Given the description of an element on the screen output the (x, y) to click on. 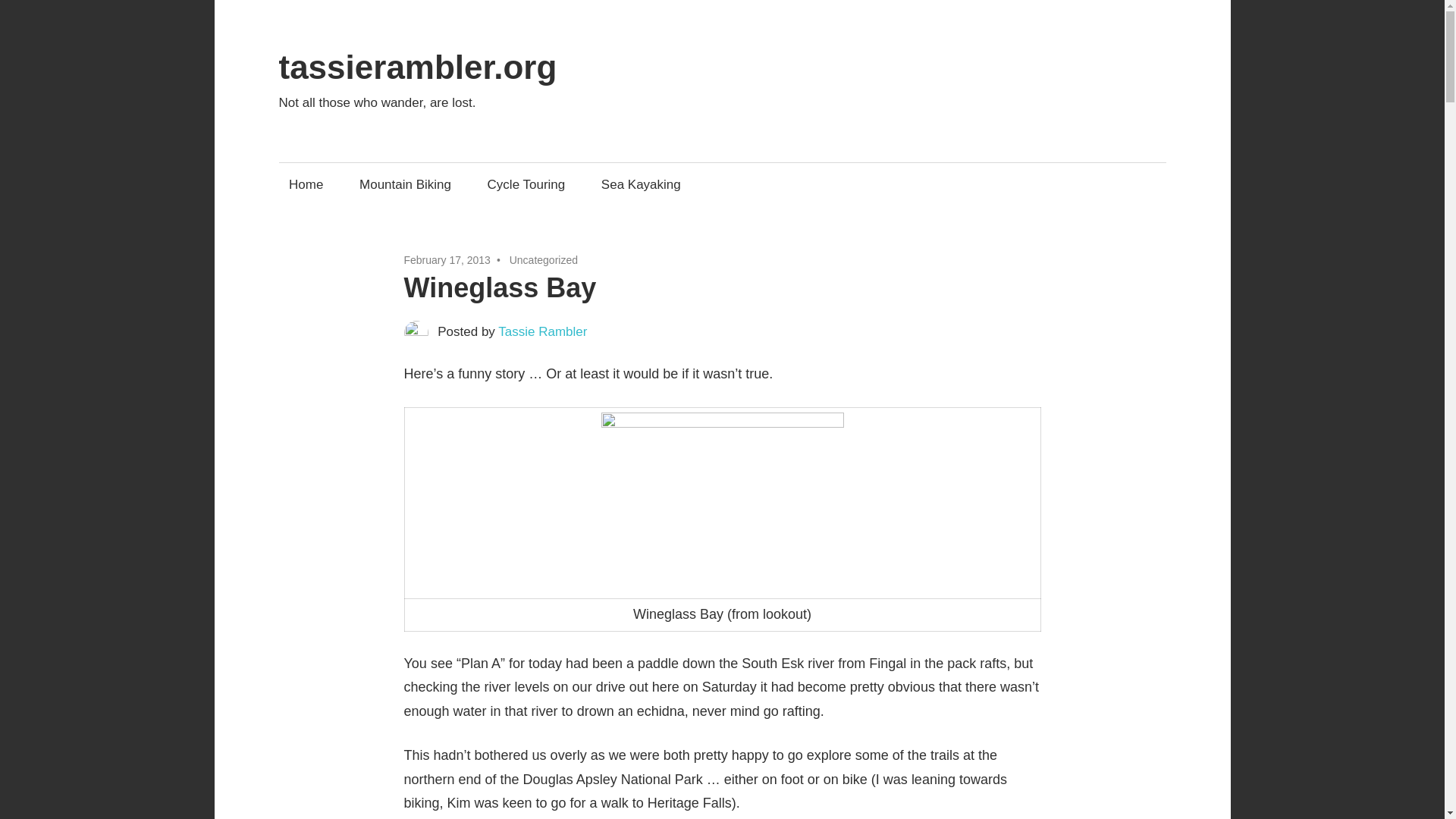
Home (306, 184)
Cycle Touring (526, 184)
February 17, 2013 (446, 259)
Uncategorized (543, 259)
View all posts by Tassie Rambler (541, 331)
Sea Kayaking (640, 184)
Mountain Biking (405, 184)
tassierambler.org (418, 66)
4:00 am (446, 259)
Tassie Rambler (541, 331)
